Given the description of an element on the screen output the (x, y) to click on. 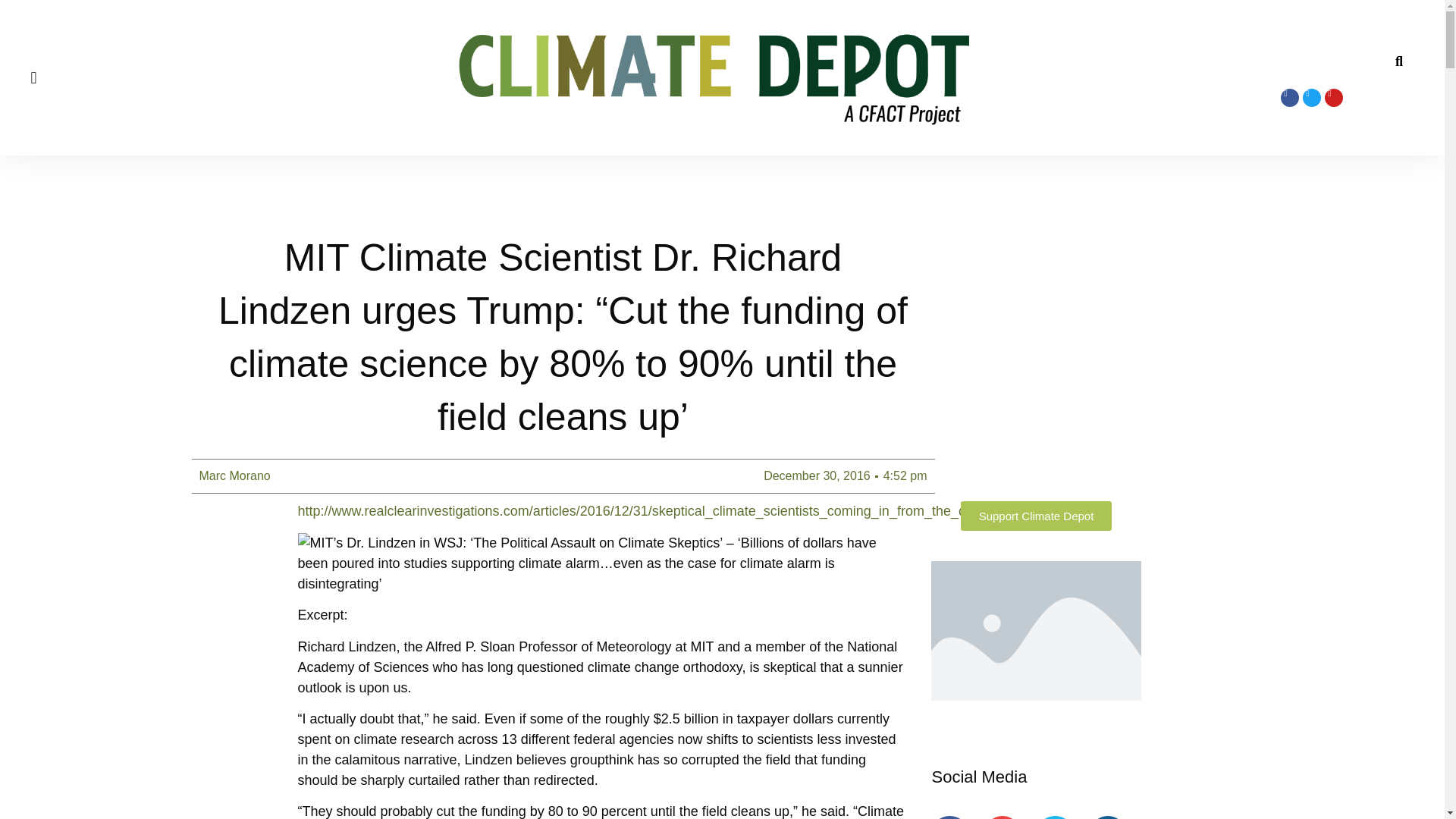
December 30, 2016 (816, 475)
Marc Morano (233, 475)
